Given the description of an element on the screen output the (x, y) to click on. 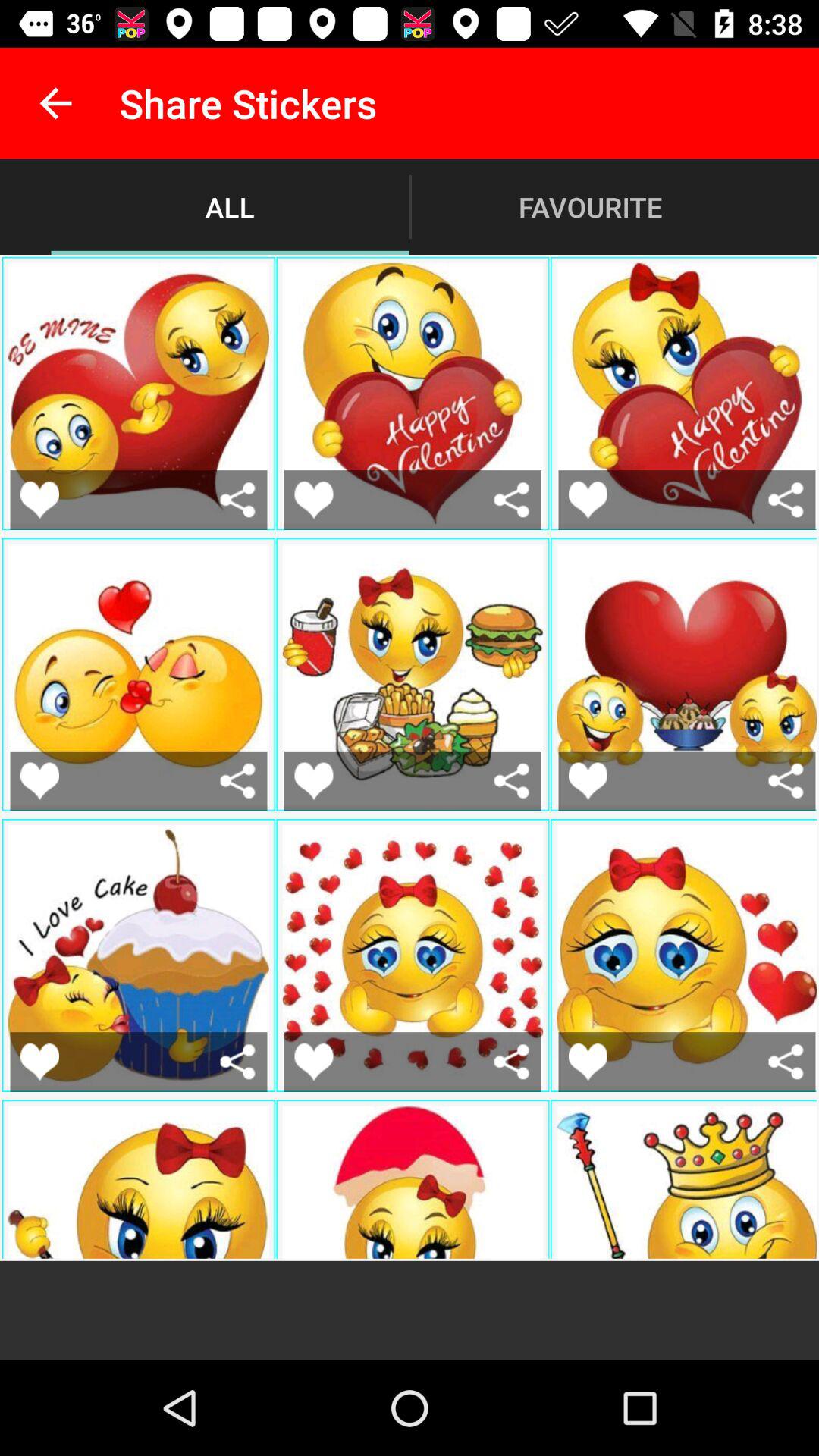
mark as favorite (313, 499)
